Given the description of an element on the screen output the (x, y) to click on. 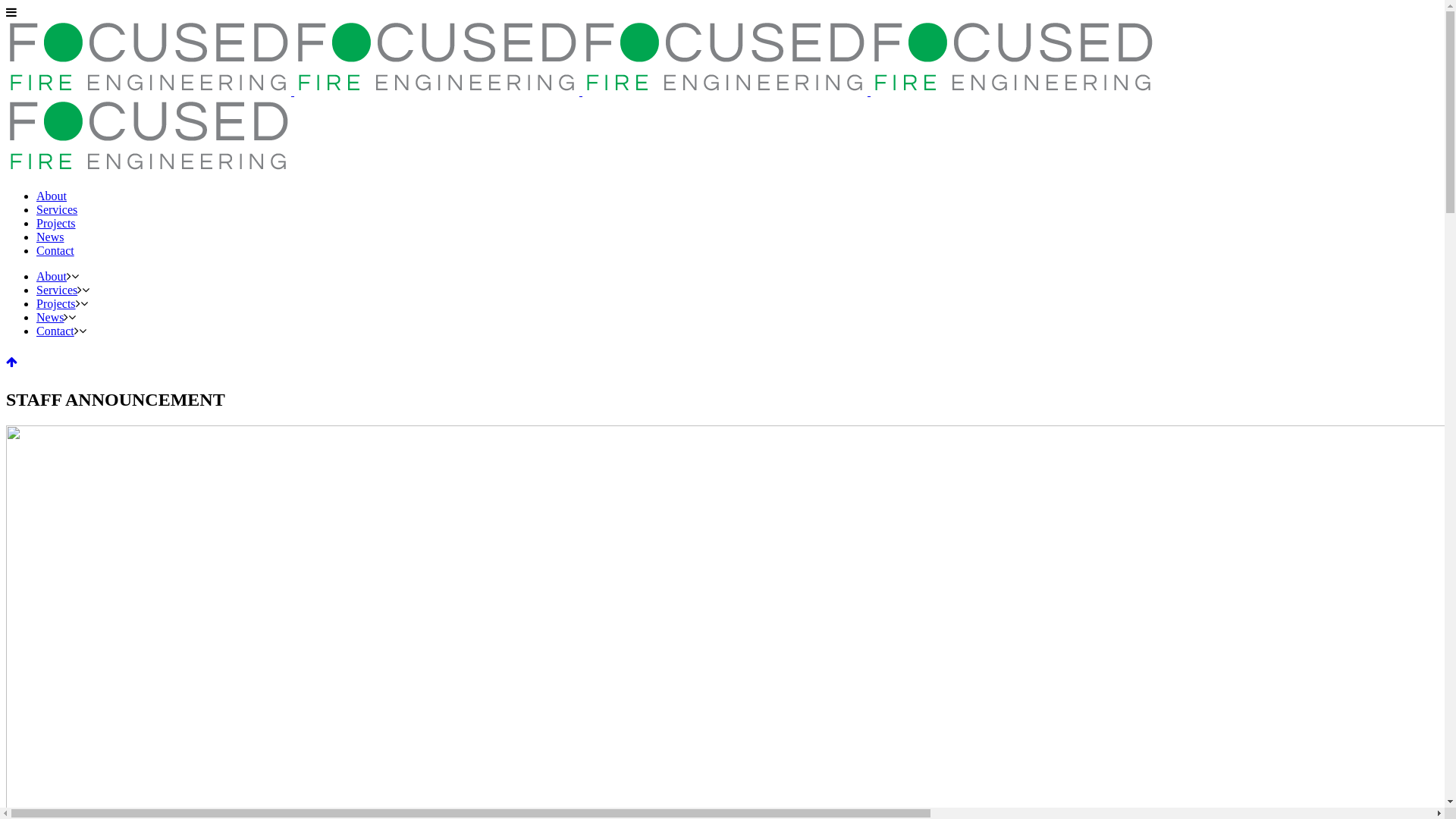
About Element type: text (51, 195)
Contact Element type: text (55, 250)
Projects Element type: text (55, 222)
Contact Element type: text (55, 330)
About Element type: text (51, 275)
News Element type: text (49, 236)
Services Element type: text (56, 289)
Services Element type: text (56, 209)
Projects Element type: text (55, 303)
News Element type: text (49, 316)
